Given the description of an element on the screen output the (x, y) to click on. 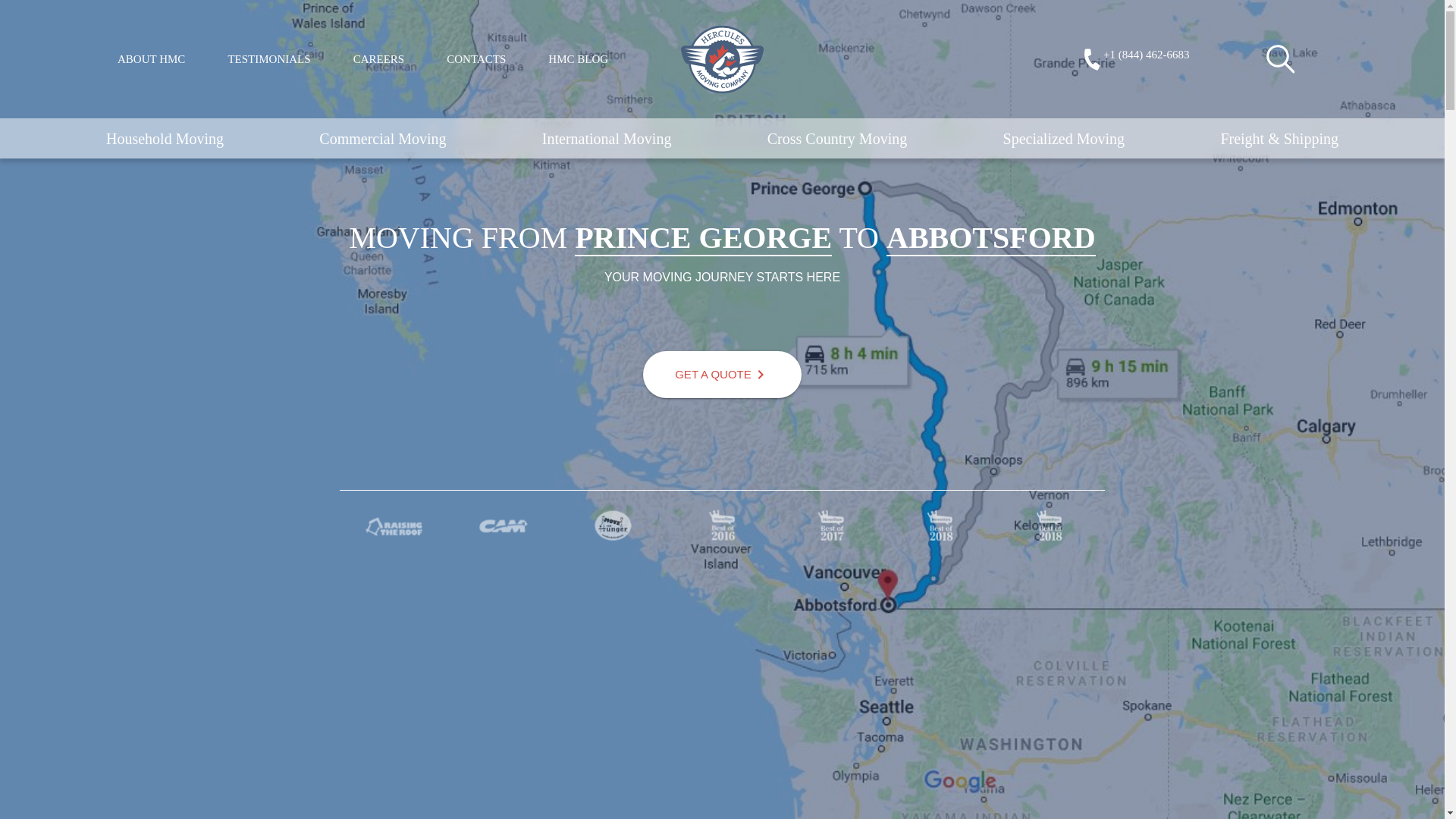
Household Moving (165, 137)
HMC BLOG (578, 59)
ABOUT HMC (150, 59)
TESTIMONIALS (268, 59)
CONTACTS (475, 59)
CAREERS (378, 59)
